Given the description of an element on the screen output the (x, y) to click on. 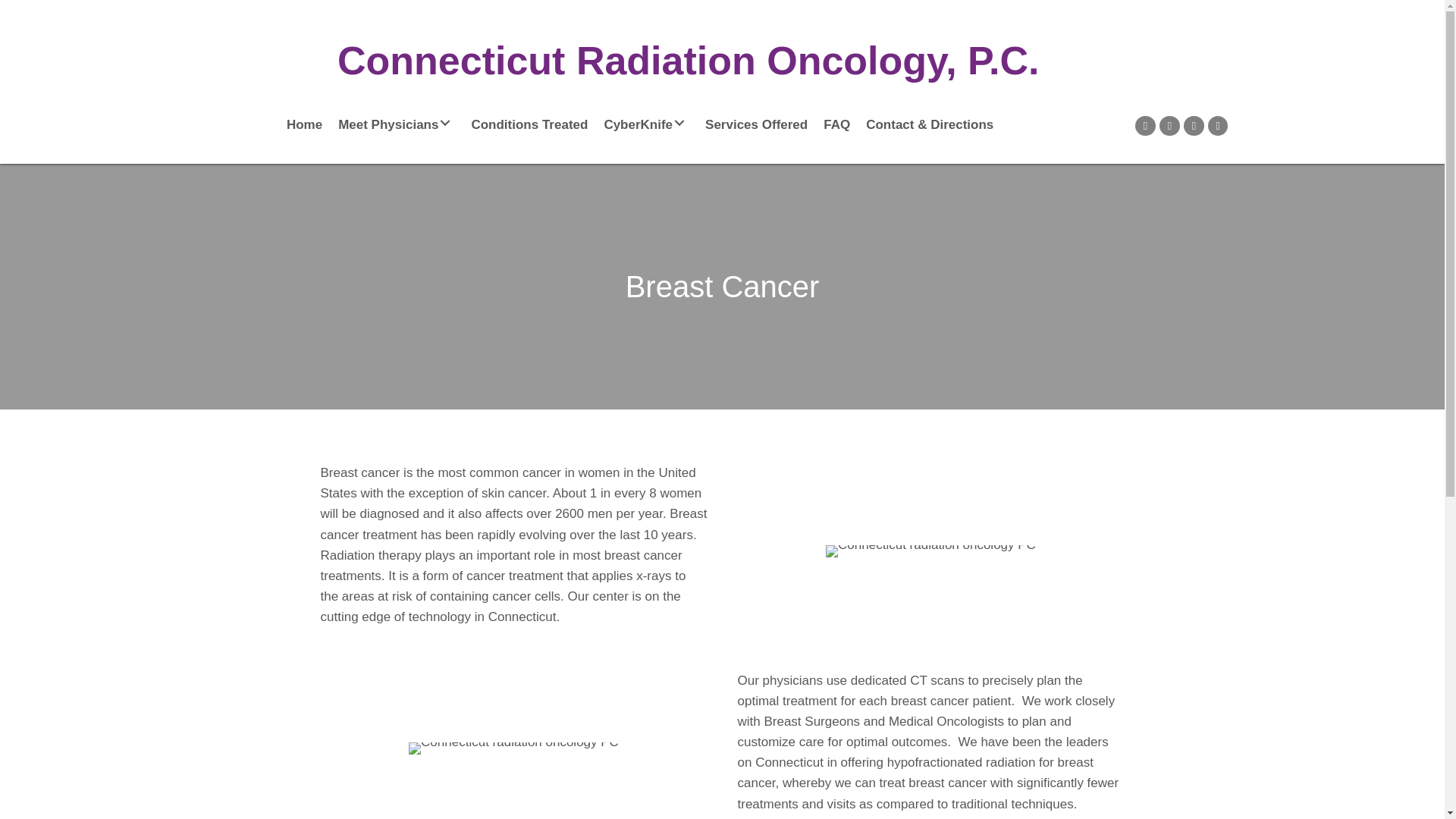
Meet Physicians (396, 122)
CyberKnife (645, 122)
Connecticut radiation oncology PC (930, 551)
FAQ (836, 122)
Home (305, 122)
Services Offered (755, 122)
Conditions Treated (529, 122)
Connecticut radiation oncology PC (513, 748)
